Given the description of an element on the screen output the (x, y) to click on. 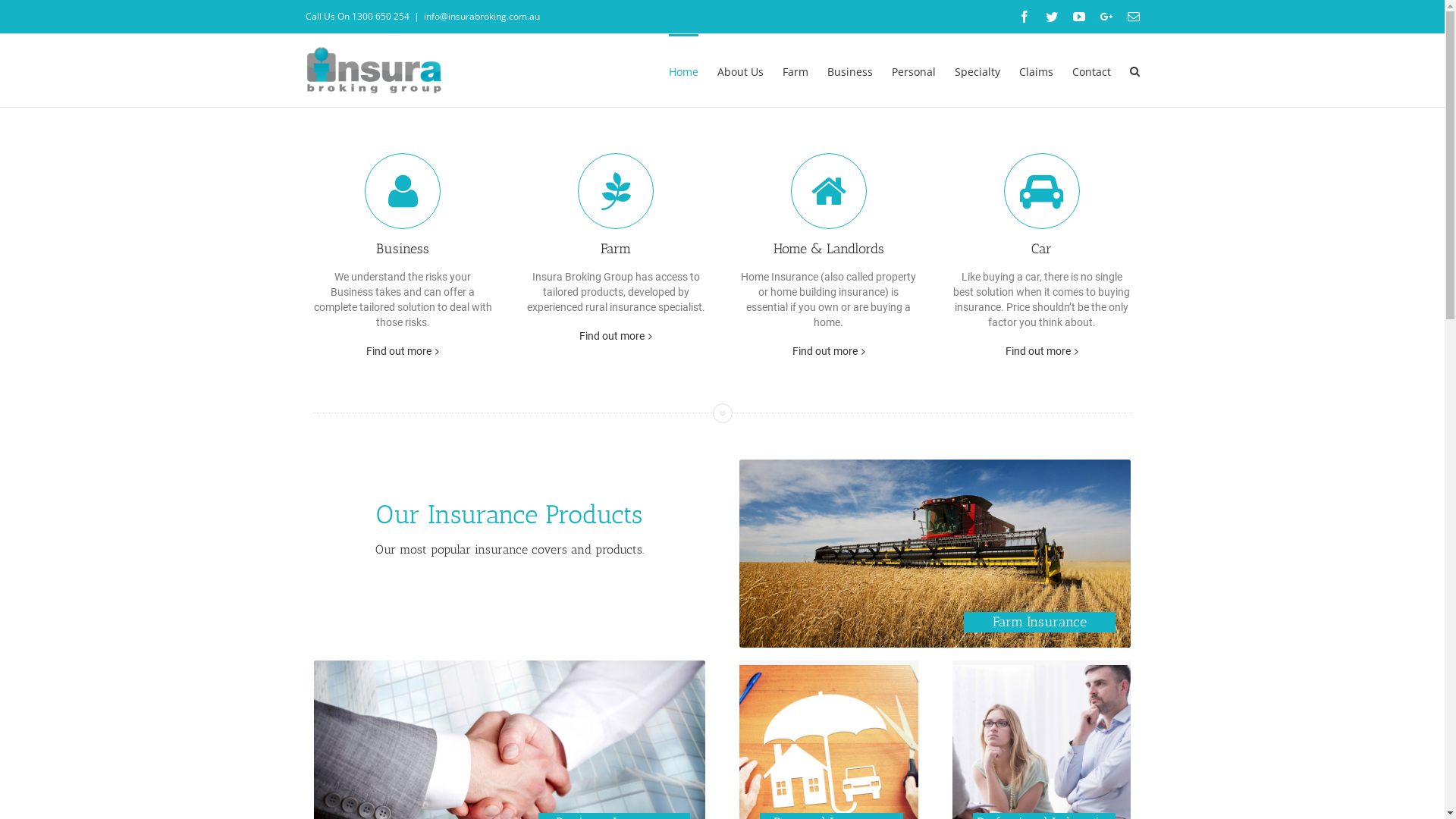
Home & Landlords Element type: text (828, 205)
Car Element type: text (1041, 205)
Claims Element type: text (1036, 70)
Business Element type: text (402, 205)
Find Out More Element type: text (828, 774)
Find out more Element type: text (398, 350)
Business Element type: text (849, 70)
Find Out More Element type: text (934, 588)
Find Out More Element type: text (1041, 804)
Contact Element type: text (1091, 70)
Home Element type: text (683, 70)
Find out more Element type: text (611, 335)
Find out more Element type: text (1037, 350)
Personal Element type: text (913, 70)
info@insurabroking.com.au Element type: text (481, 15)
Farm Element type: text (615, 205)
Specialty Element type: text (976, 70)
Farm Element type: text (795, 70)
Find Out More Element type: text (509, 789)
Find out more Element type: text (824, 350)
About Us Element type: text (740, 70)
